Given the description of an element on the screen output the (x, y) to click on. 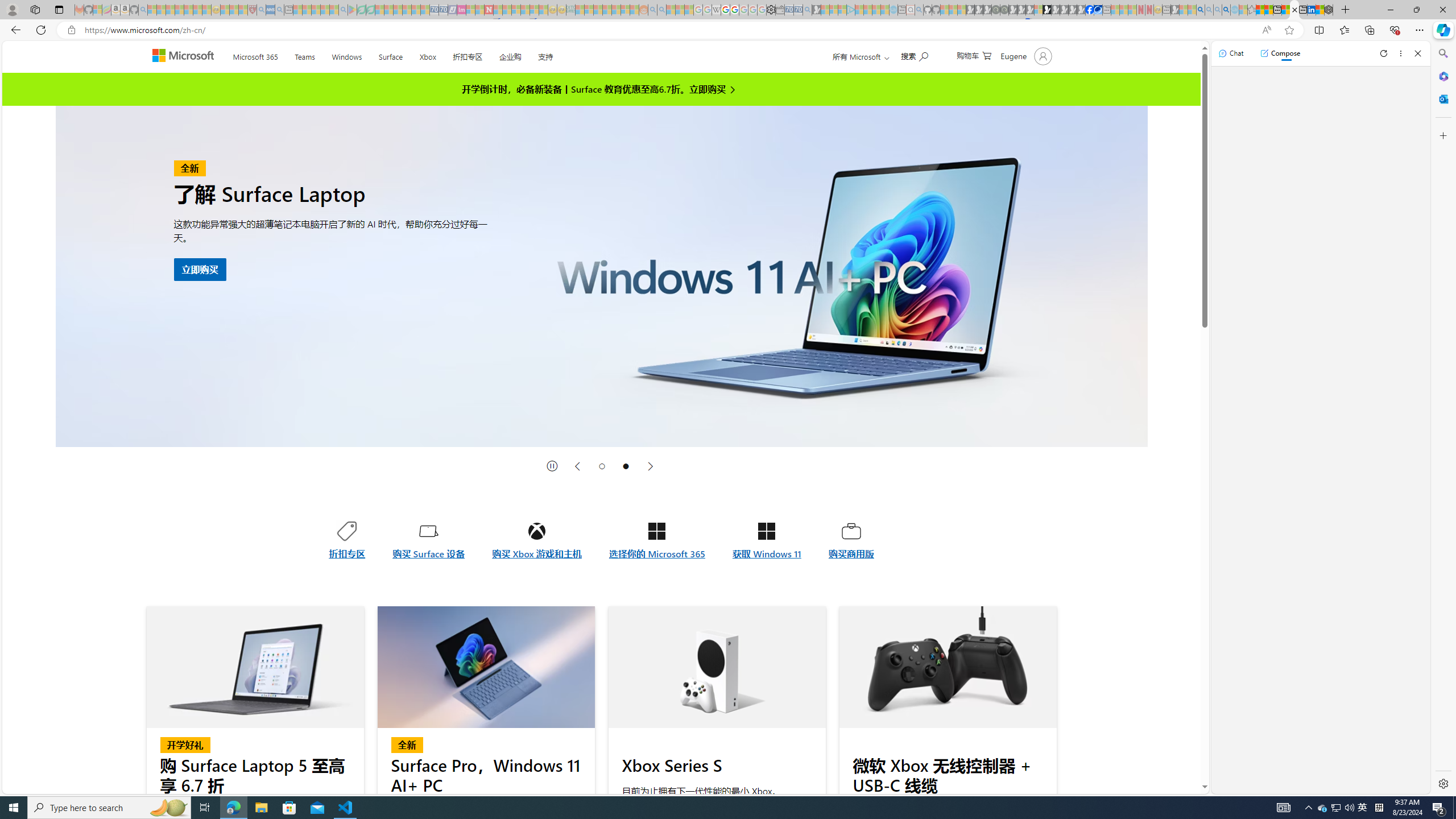
App bar (728, 29)
Privacy Help Center - Policies Help (725, 9)
Microsoft account | Privacy - Sleeping (841, 9)
Latest Politics News & Archive | Newsweek.com - Sleeping (488, 9)
Wallet - Sleeping (779, 9)
